Given the description of an element on the screen output the (x, y) to click on. 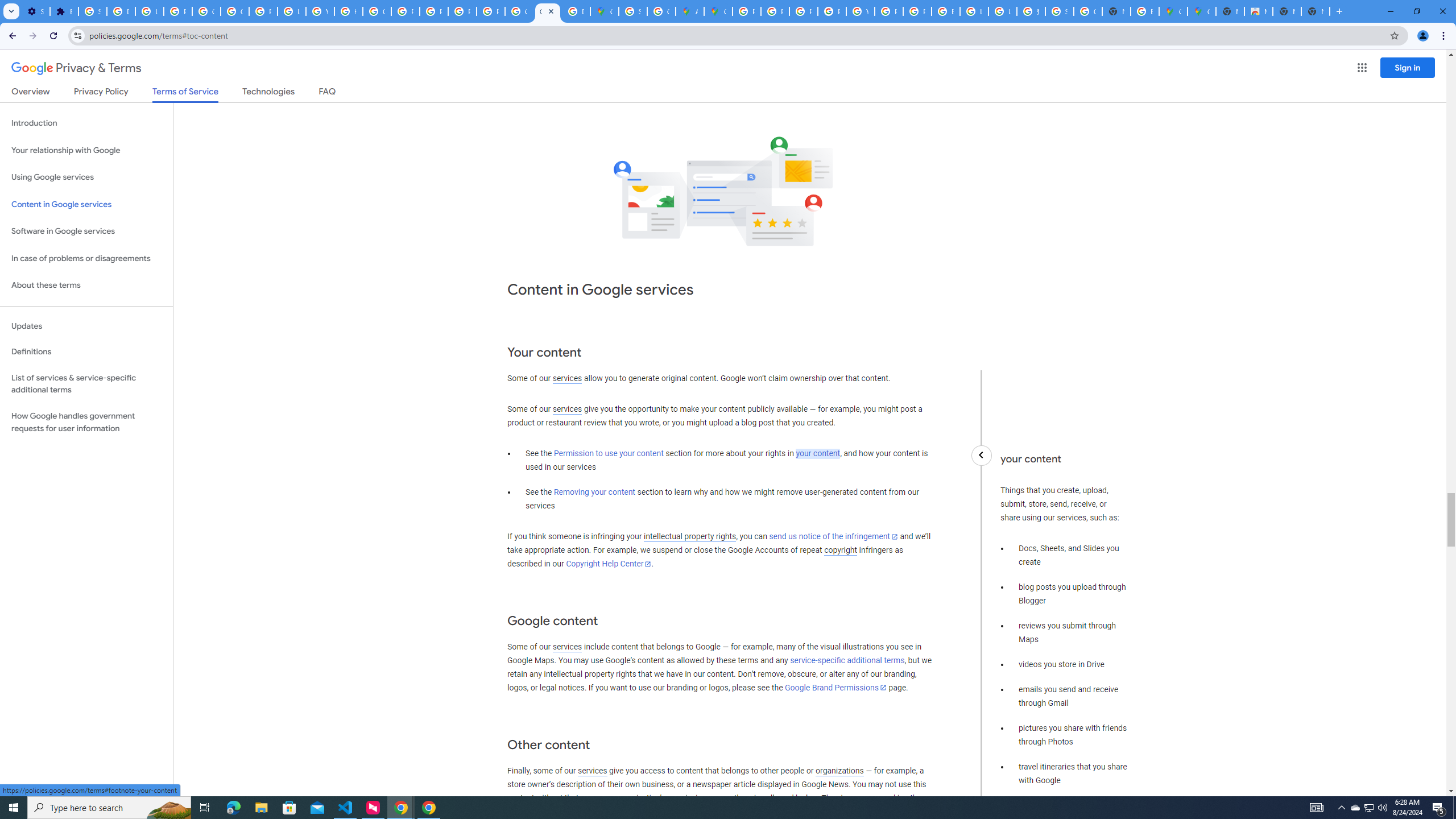
service-specific additional terms (847, 660)
Sign in - Google Accounts (1058, 11)
Policy Accountability and Transparency - Transparency Center (746, 11)
services (591, 770)
send us notice of the infringement (833, 536)
YouTube (320, 11)
